Given the description of an element on the screen output the (x, y) to click on. 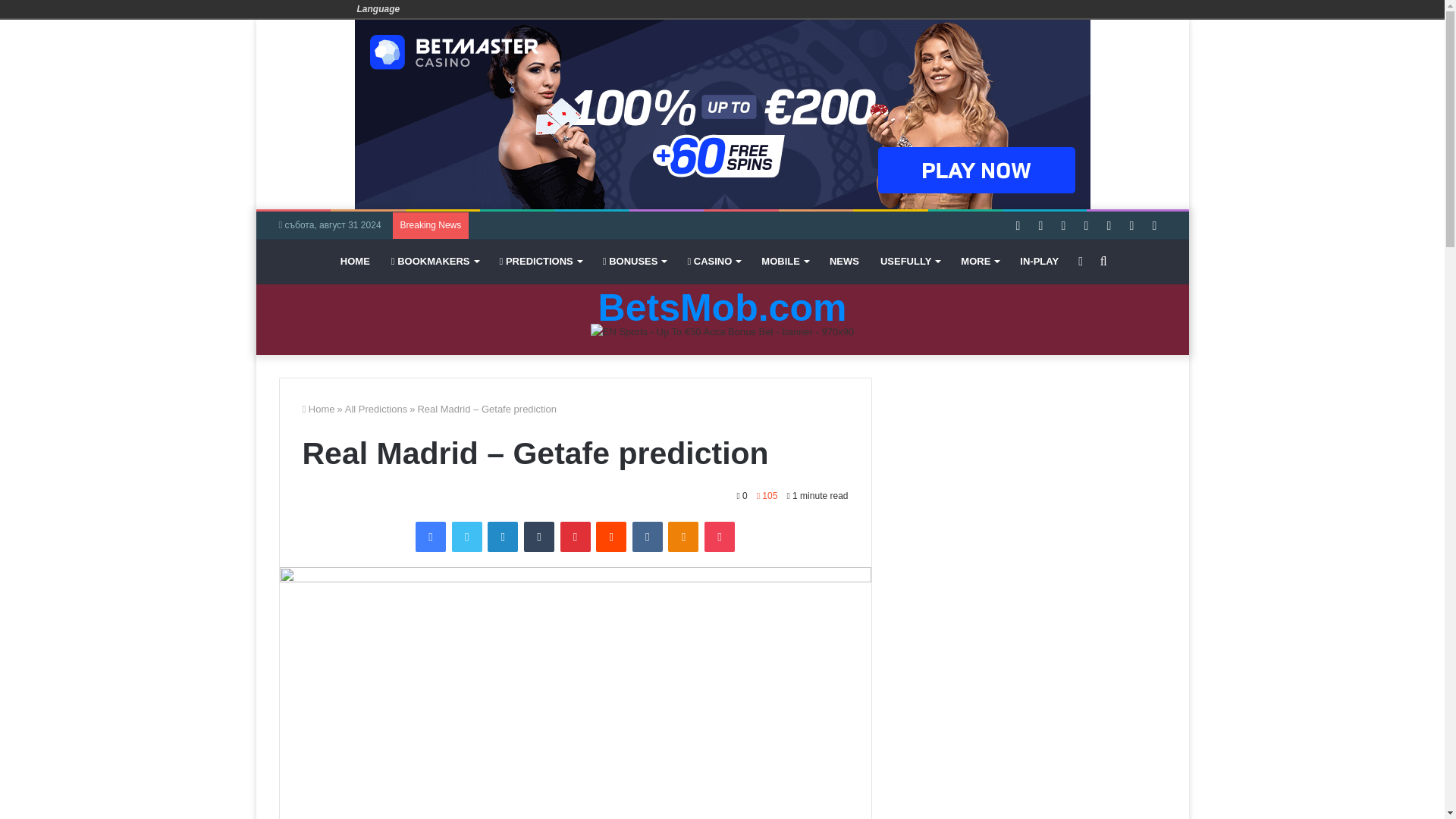
LinkedIn (502, 536)
PREDICTIONS (540, 261)
Pocket (719, 536)
Pinterest (574, 536)
VKontakte (646, 536)
Facebook (429, 536)
BOOKMAKERS (434, 261)
HOME (355, 261)
Tumblr (539, 536)
BetsMob.com (722, 307)
